Given the description of an element on the screen output the (x, y) to click on. 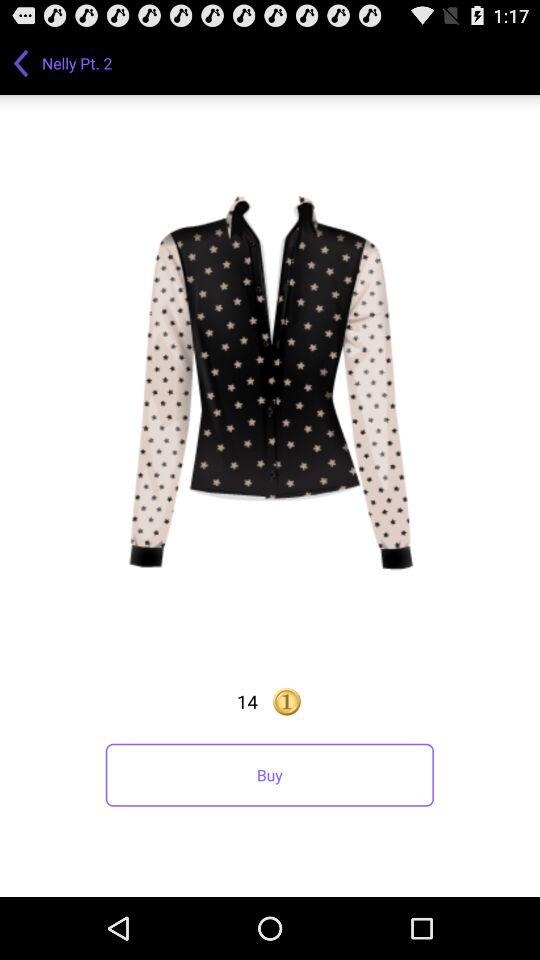
press app to the left of nelly pt. 2 (21, 62)
